Given the description of an element on the screen output the (x, y) to click on. 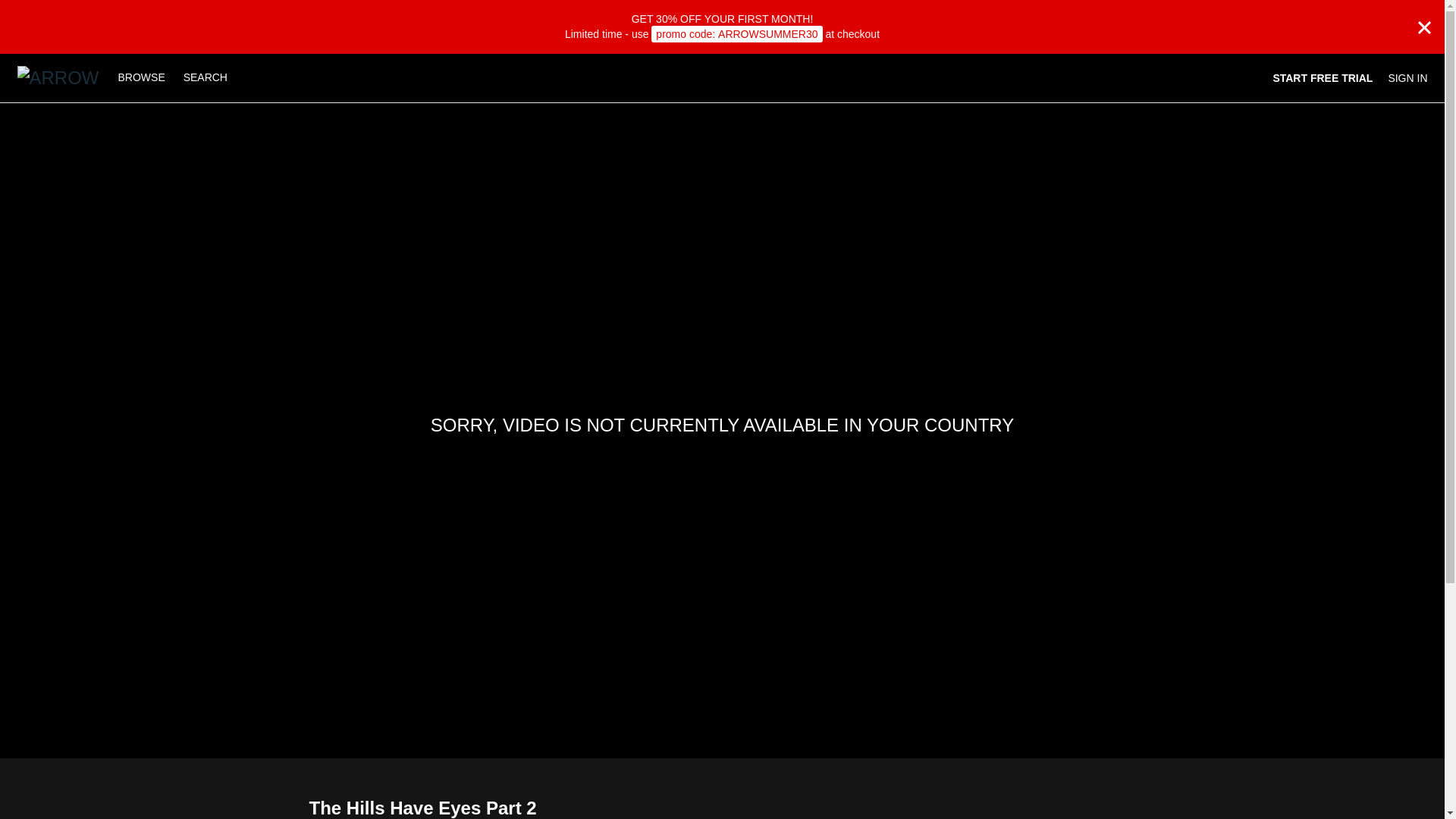
START FREE TRIAL (1322, 78)
SIGN IN (1406, 78)
BROWSE (143, 77)
Skip to main content (48, 7)
SEARCH (205, 77)
